Given the description of an element on the screen output the (x, y) to click on. 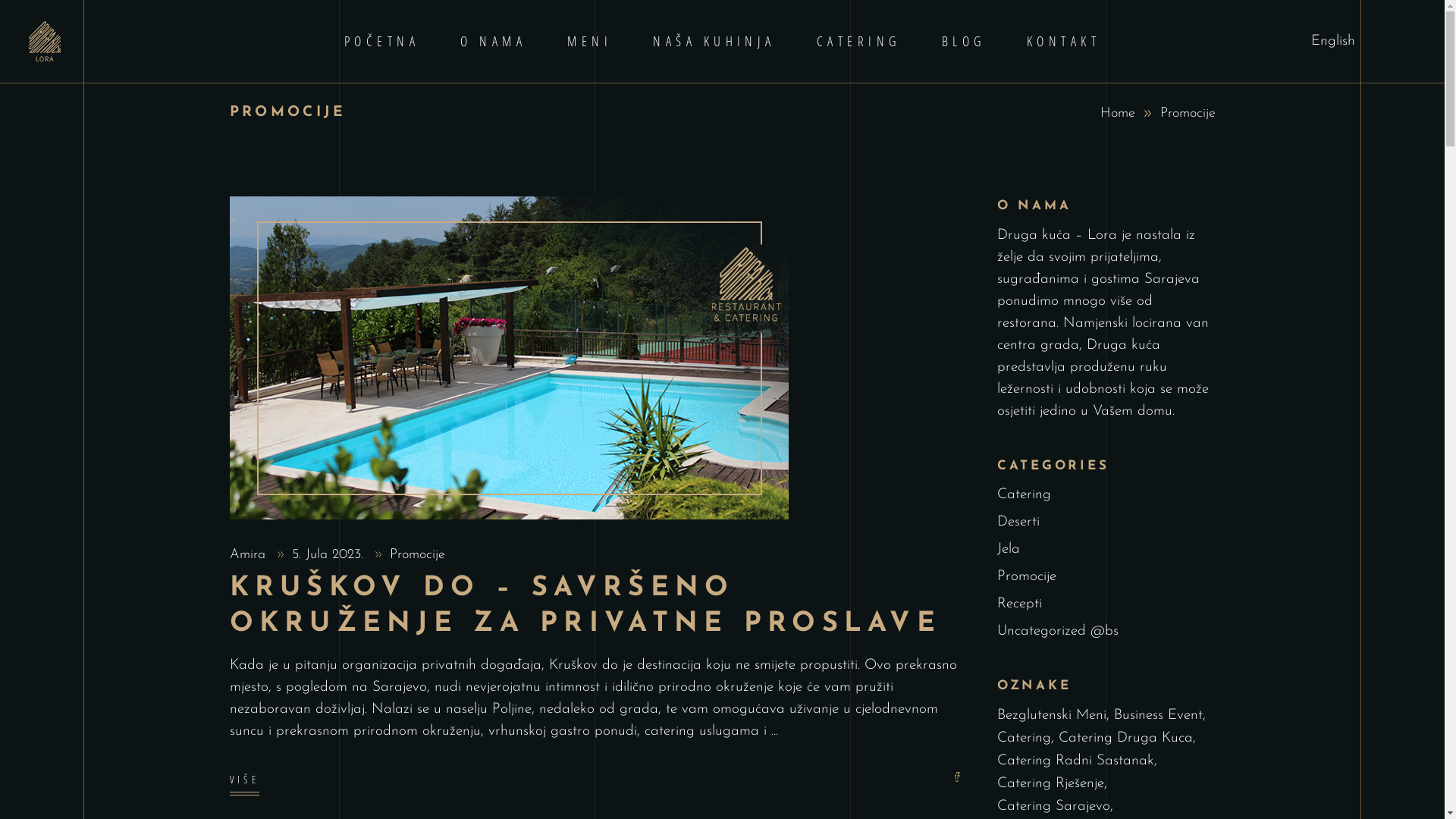
Catering Element type: text (1025, 738)
Promocije Element type: text (417, 554)
Catering Druga Kuca Element type: text (1126, 738)
Amira Element type: text (249, 554)
BLOG Element type: text (963, 41)
Promocije Element type: text (1026, 576)
English Element type: text (1333, 41)
Catering Sarajevo Element type: text (1055, 806)
MENI Element type: text (589, 41)
Recepti Element type: text (1019, 604)
Business Event Element type: text (1159, 715)
Home Element type: text (1116, 113)
Uncategorized @bs Element type: text (1057, 631)
Bezglutenski Meni Element type: text (1053, 715)
O NAMA Element type: text (492, 41)
Catering Radni Sastanak Element type: text (1077, 760)
Deserti Element type: text (1018, 522)
Catering Element type: text (1024, 494)
Jela Element type: text (1008, 549)
KONTAKT Element type: text (1063, 41)
5. Jula 2023. Element type: text (329, 554)
CATERING Element type: text (858, 41)
